Given the description of an element on the screen output the (x, y) to click on. 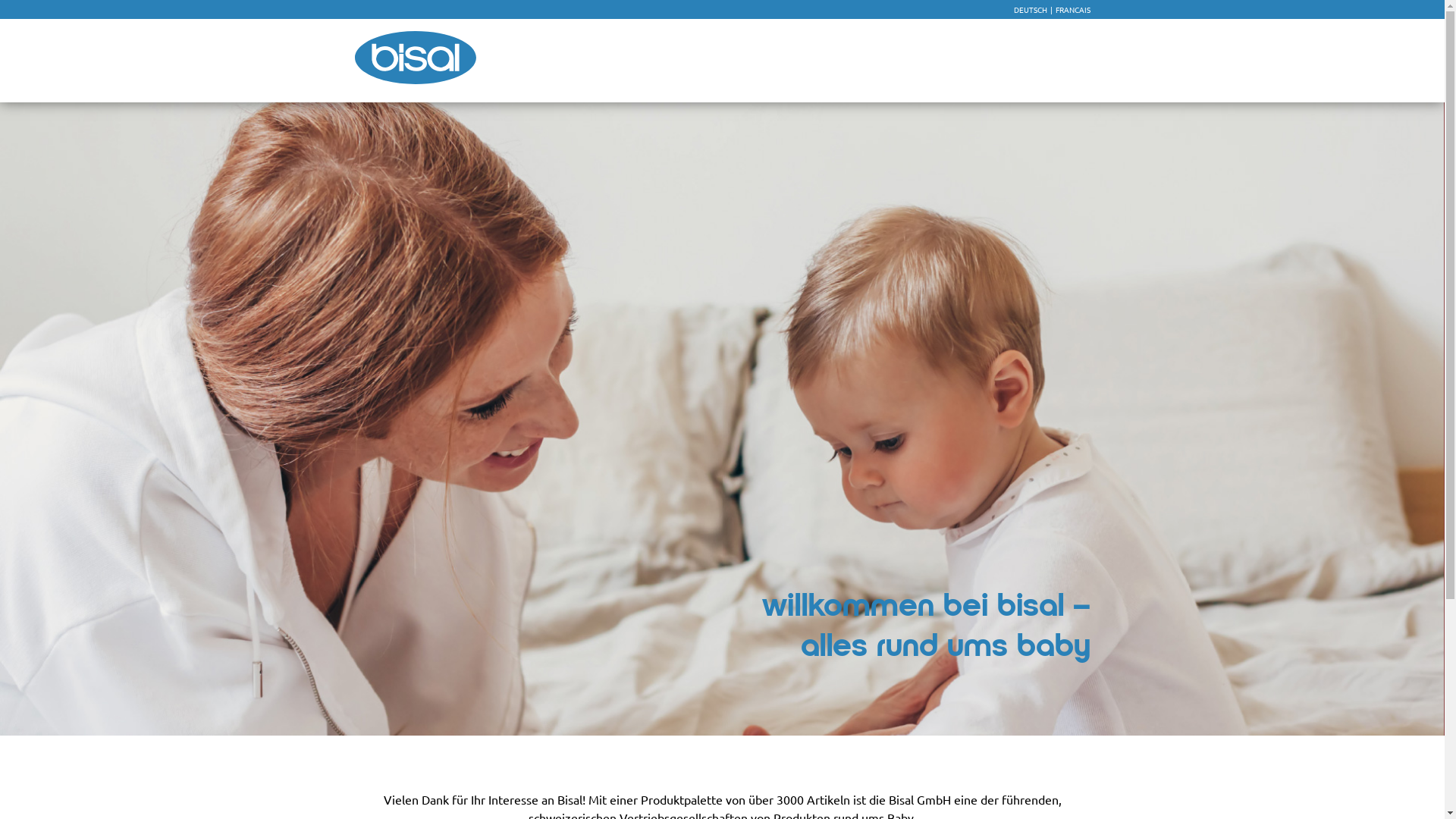
FRANCAIS Element type: text (1072, 9)
DEUTSCH Element type: text (1029, 9)
